Given the description of an element on the screen output the (x, y) to click on. 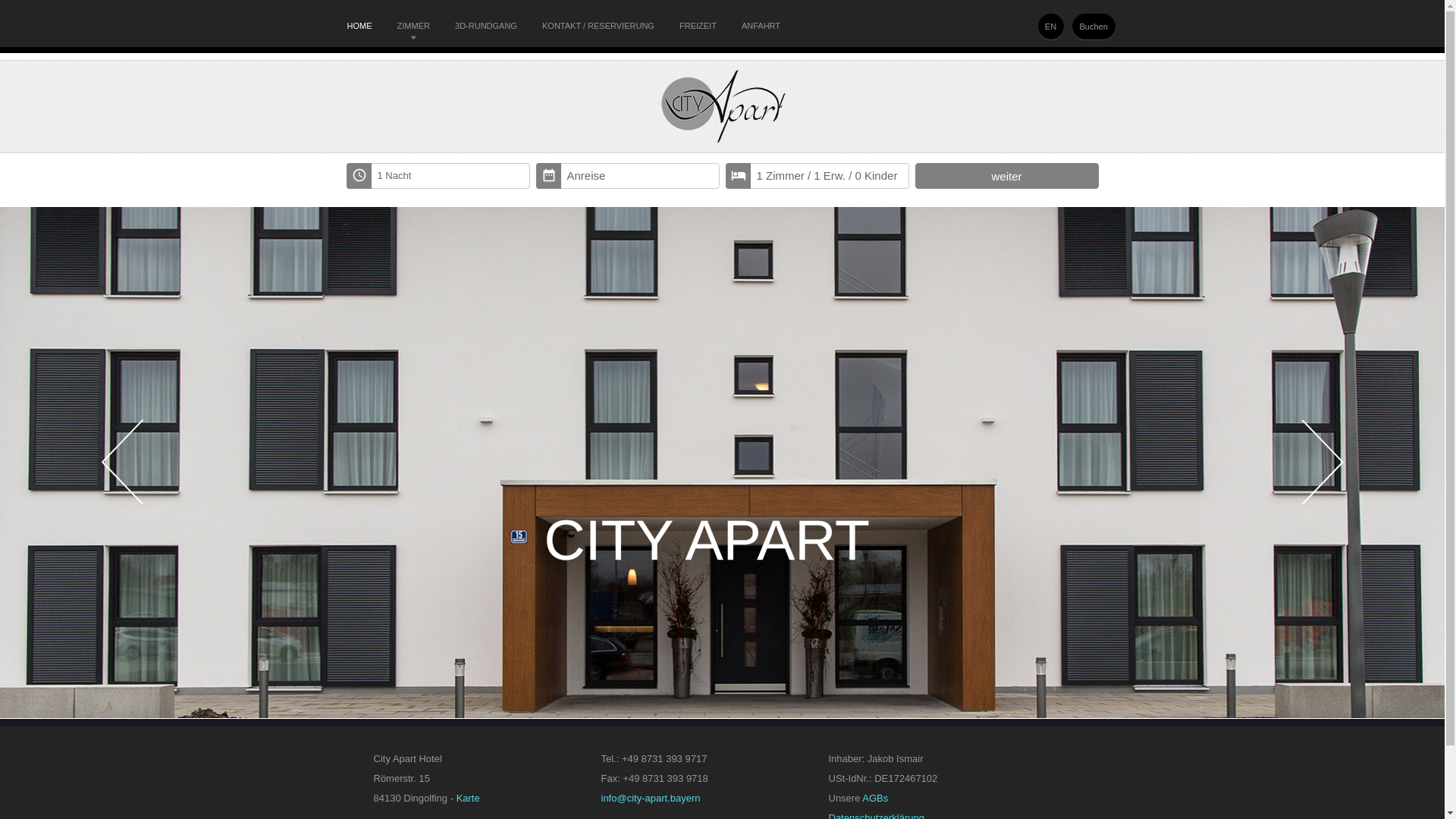
FREIZEIT Element type: text (697, 25)
ANFAHRT Element type: text (760, 25)
HOME Element type: text (359, 25)
info@city-apart.bayern Element type: text (649, 797)
KONTAKT / RESERVIERUNG Element type: text (598, 25)
ZIMMER Element type: text (413, 25)
3D-RUNDGANG Element type: text (486, 25)
EN Element type: text (1050, 26)
Buchen Element type: text (1085, 26)
Karte Element type: text (468, 797)
AGBs Element type: text (875, 797)
